Given the description of an element on the screen output the (x, y) to click on. 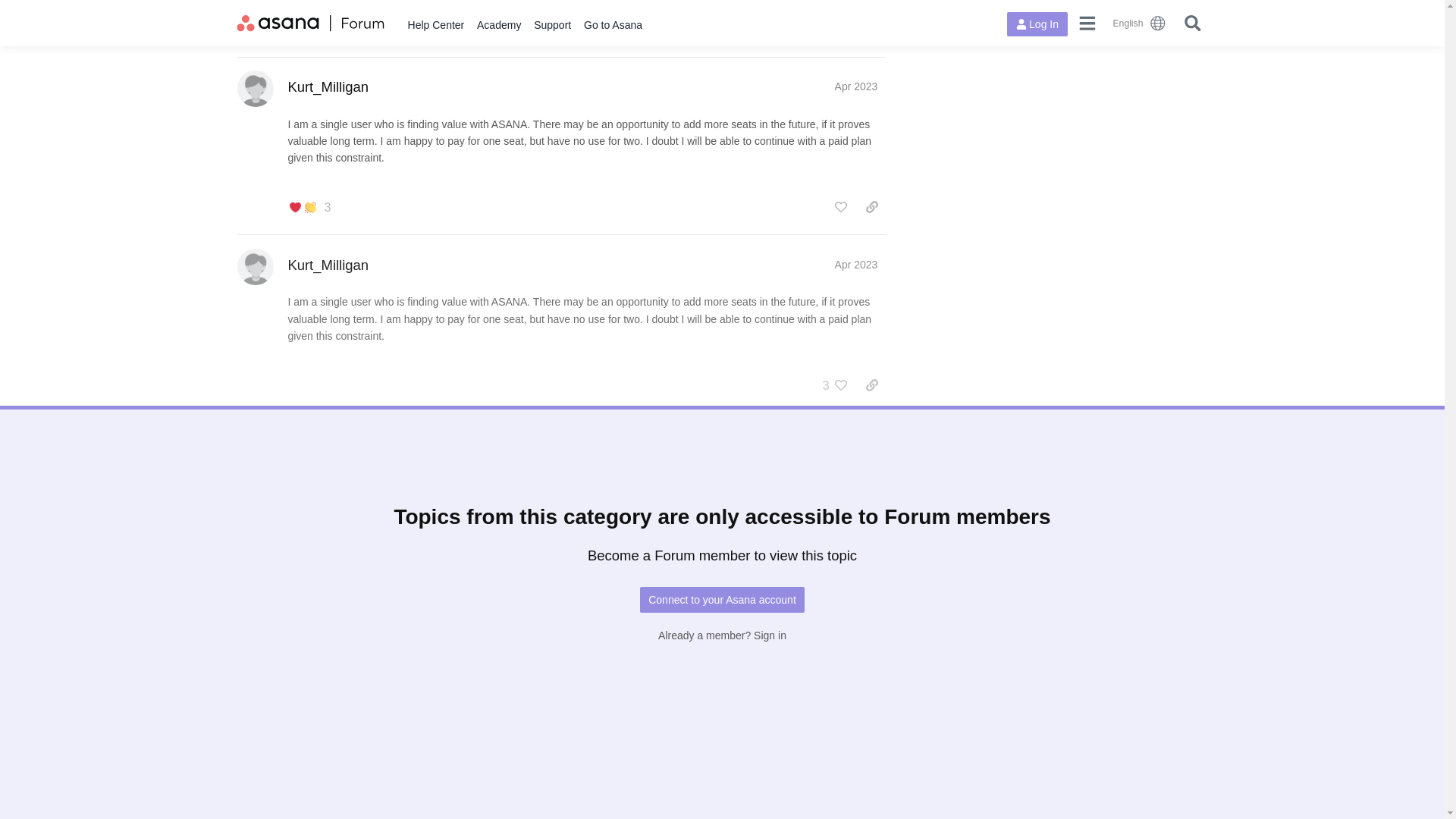
Academy (498, 25)
Apr 2023 (855, 442)
iDO (381, 589)
Please sign up or log in to like this post (840, 206)
Post date (855, 86)
Apr 2023 (855, 264)
copy a link to this post to clipboard (872, 206)
Go to Asana (613, 25)
Log In (1037, 24)
Asana Academy (498, 25)
Help Center (435, 25)
Go to Asana (613, 25)
Help Center (435, 25)
Support (552, 25)
menu (1087, 22)
